Given the description of an element on the screen output the (x, y) to click on. 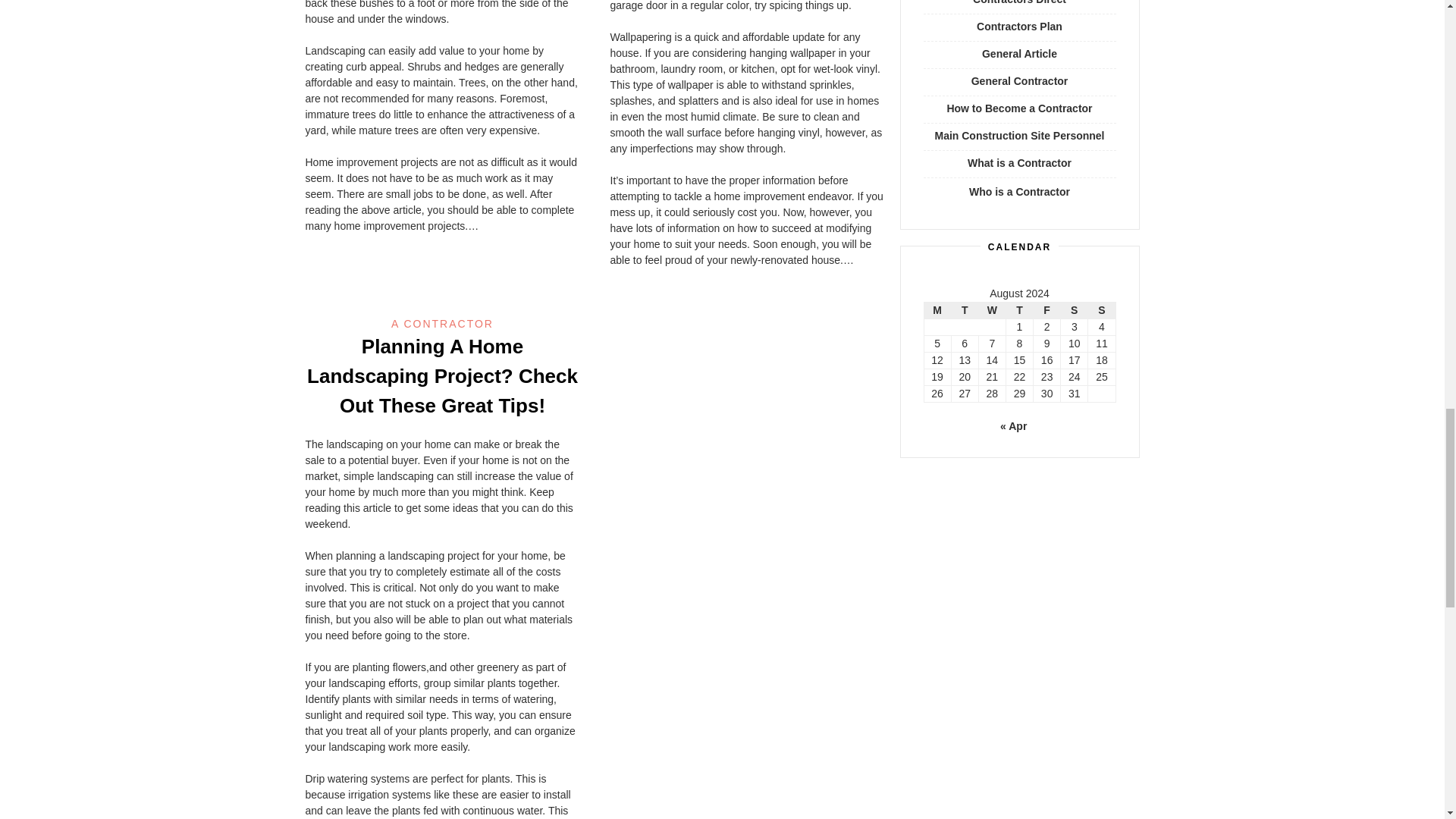
Wednesday (992, 310)
Monday (936, 310)
Friday (1047, 310)
Tuesday (964, 310)
A CONTRACTOR (442, 323)
Saturday (1074, 310)
Thursday (1019, 310)
Sunday (1101, 310)
